Given the description of an element on the screen output the (x, y) to click on. 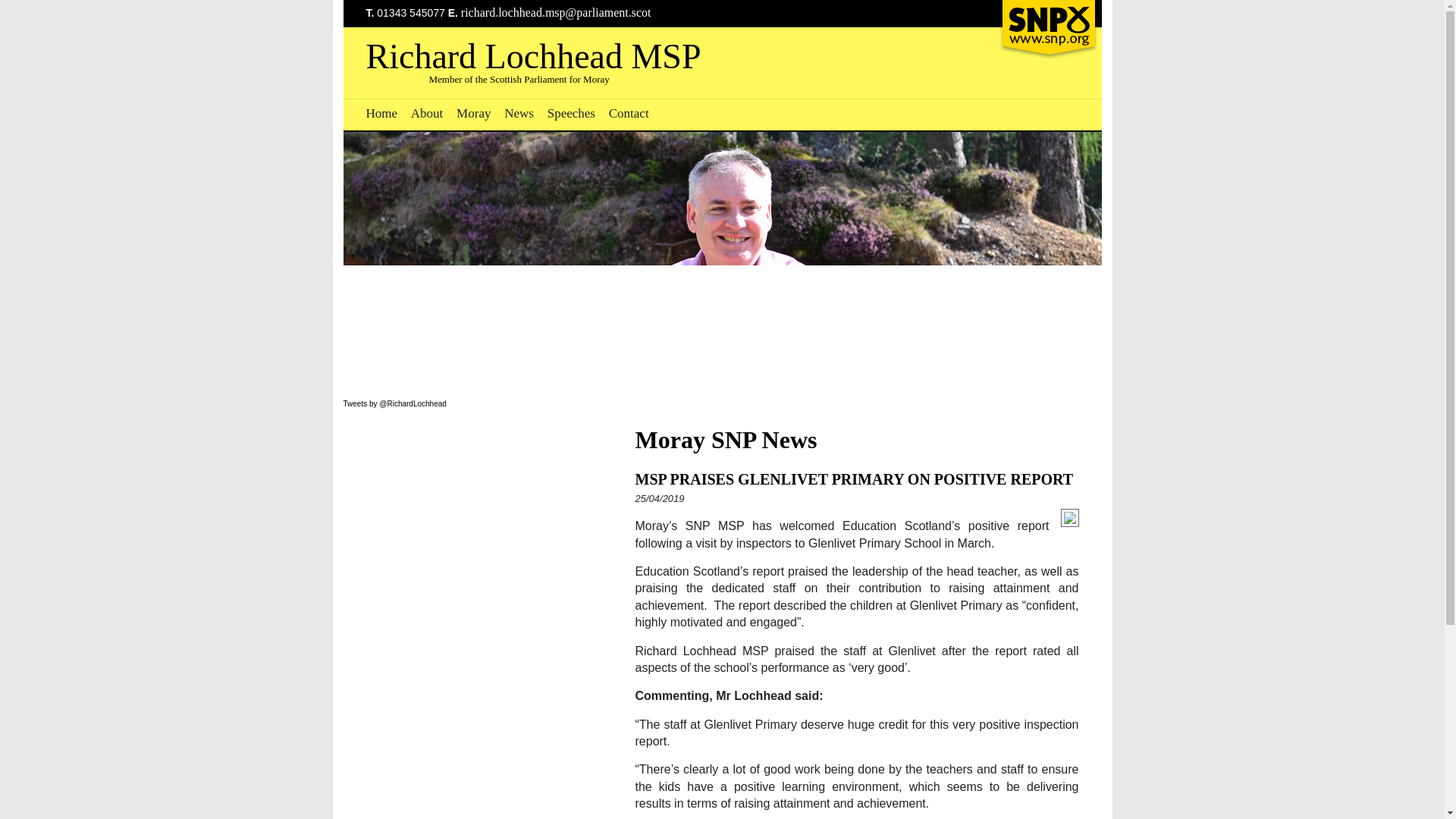
Home (381, 113)
News (518, 113)
Speeches (571, 113)
About (427, 113)
Moray (473, 113)
MSP PRAISES GLENLIVET PRIMARY ON POSITIVE REPORT (854, 478)
Contact (628, 113)
